Given the description of an element on the screen output the (x, y) to click on. 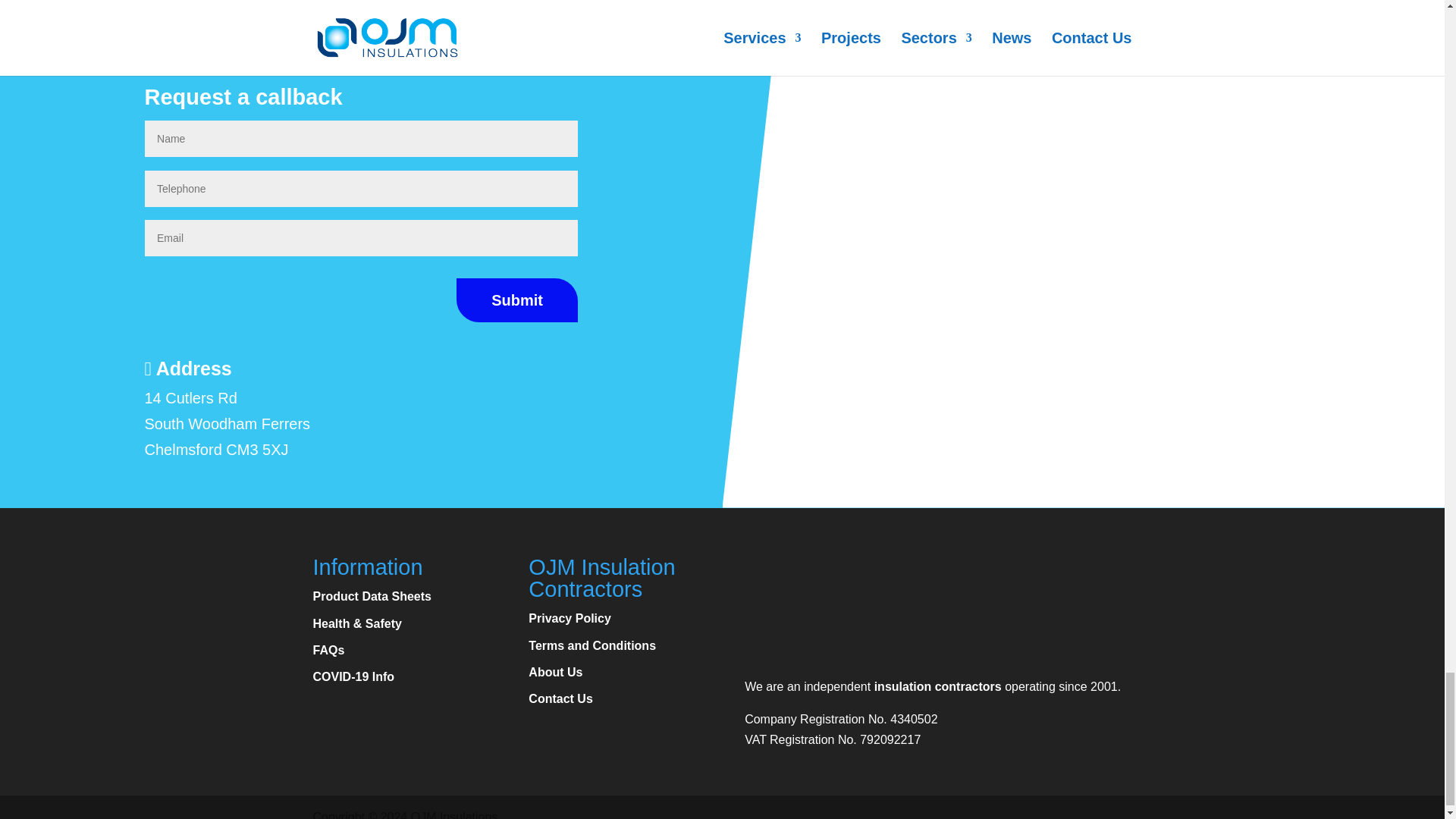
01245 425511 (216, 43)
Product Data Sheets (371, 595)
Contact Us (560, 698)
Only numbers allowed. (361, 188)
FAQs (328, 649)
Submit (517, 300)
Privacy Policy (569, 617)
COVID-19 Info (353, 676)
Terms and Conditions (592, 645)
About Us (555, 671)
